Given the description of an element on the screen output the (x, y) to click on. 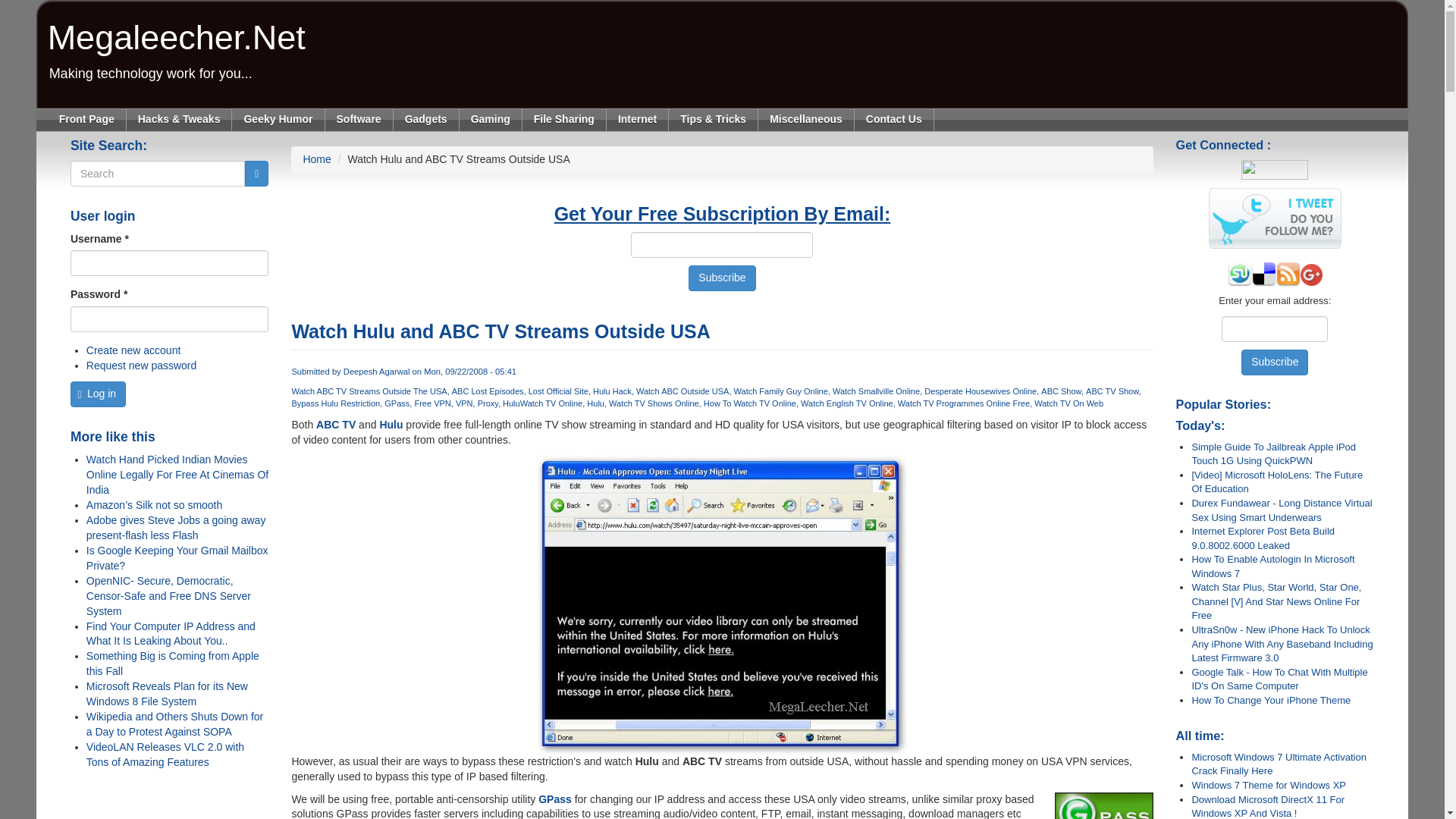
Adobe gives Steve Jobs a going away present-flash less Flash (175, 527)
Request new password via e-mail. (140, 365)
Watch Smallville Online (878, 390)
Subscribe (721, 278)
File Sharing (176, 28)
Home (564, 119)
Subscribe (316, 159)
View user profile. (721, 278)
Gaming (376, 370)
Create new account (491, 119)
VideoLAN Releases VLC 2.0 with Tons of Amazing Features (132, 349)
Search (164, 754)
